Given the description of an element on the screen output the (x, y) to click on. 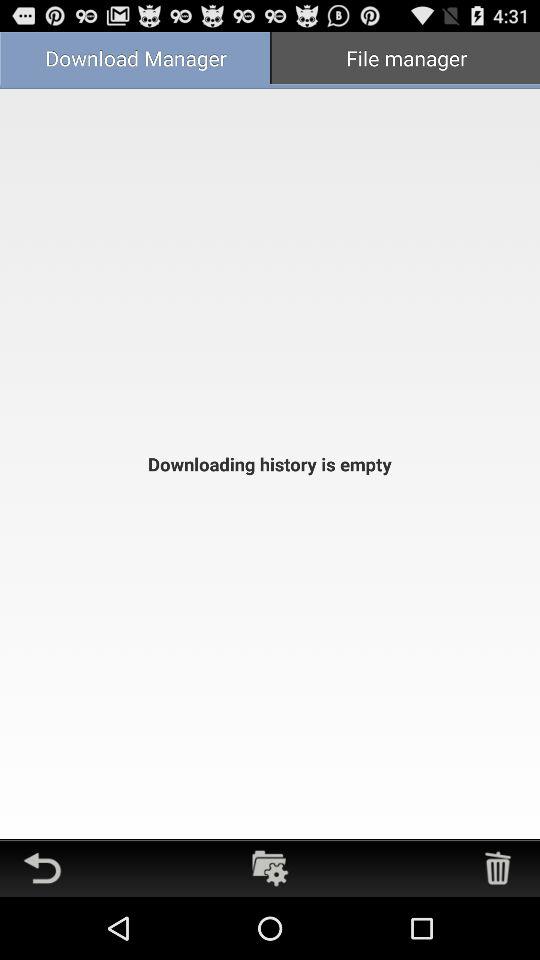
go back (42, 868)
